Given the description of an element on the screen output the (x, y) to click on. 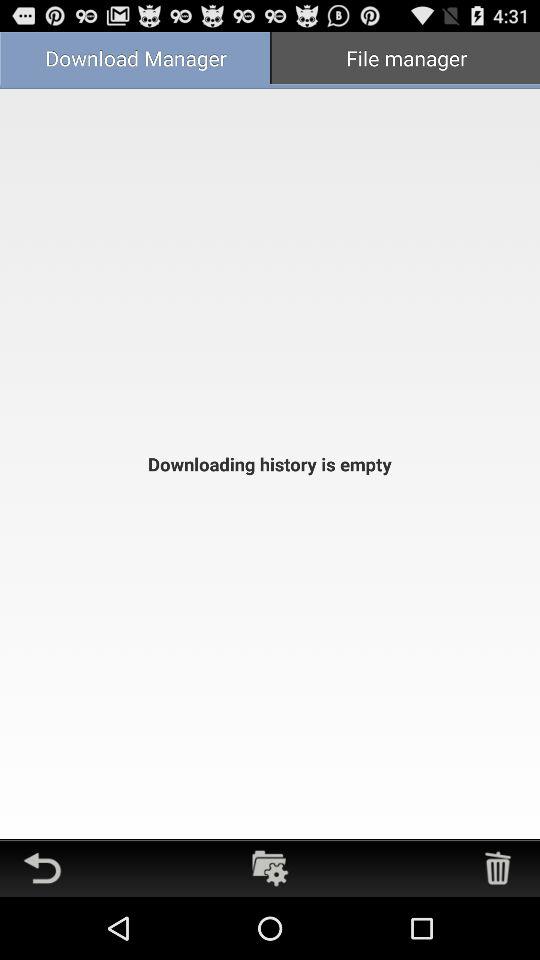
go back (42, 868)
